Given the description of an element on the screen output the (x, y) to click on. 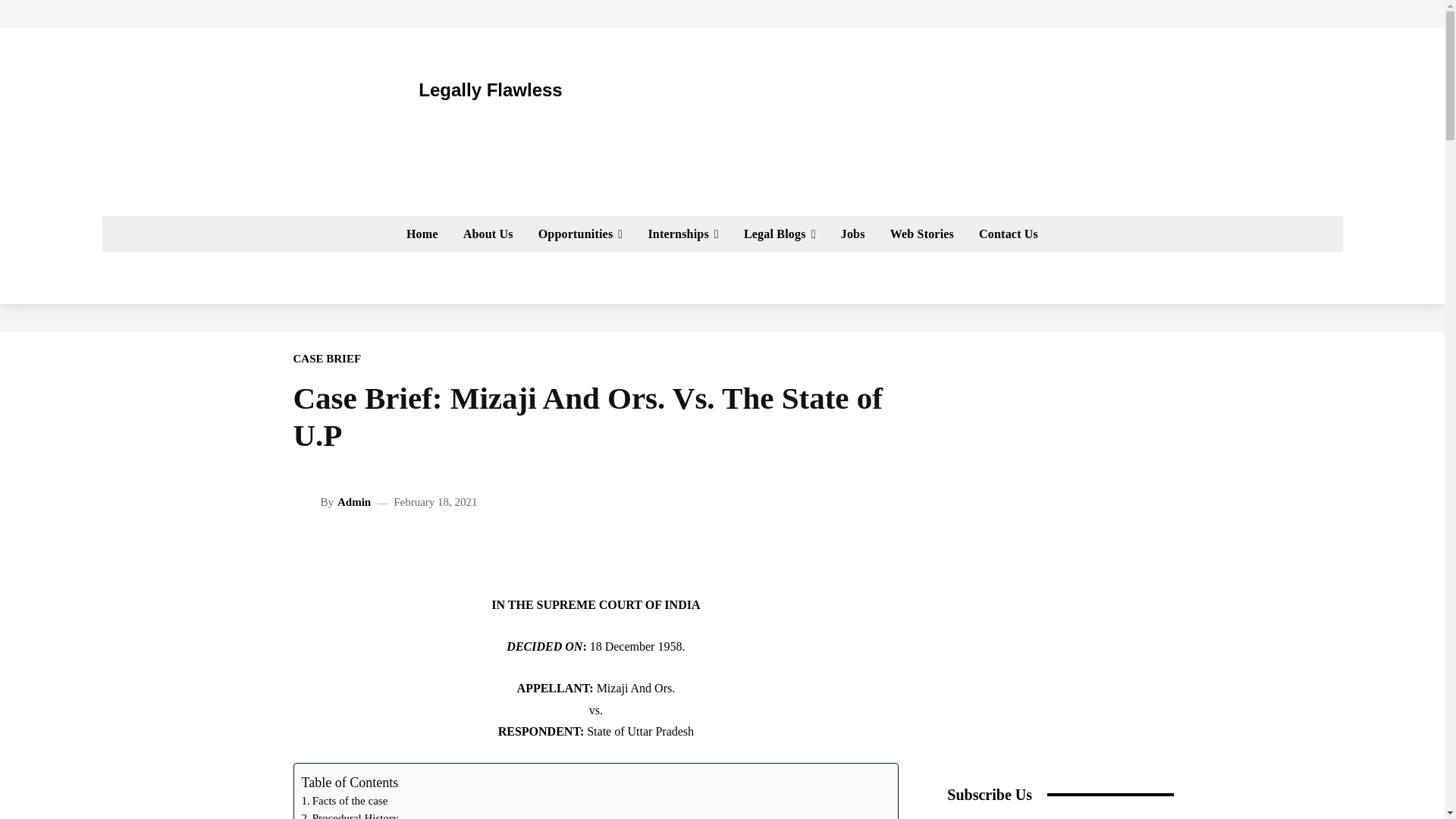
Admin (306, 501)
Opportunities (580, 234)
About Us (488, 234)
Home (422, 234)
Legally Flawless (439, 89)
